Given the description of an element on the screen output the (x, y) to click on. 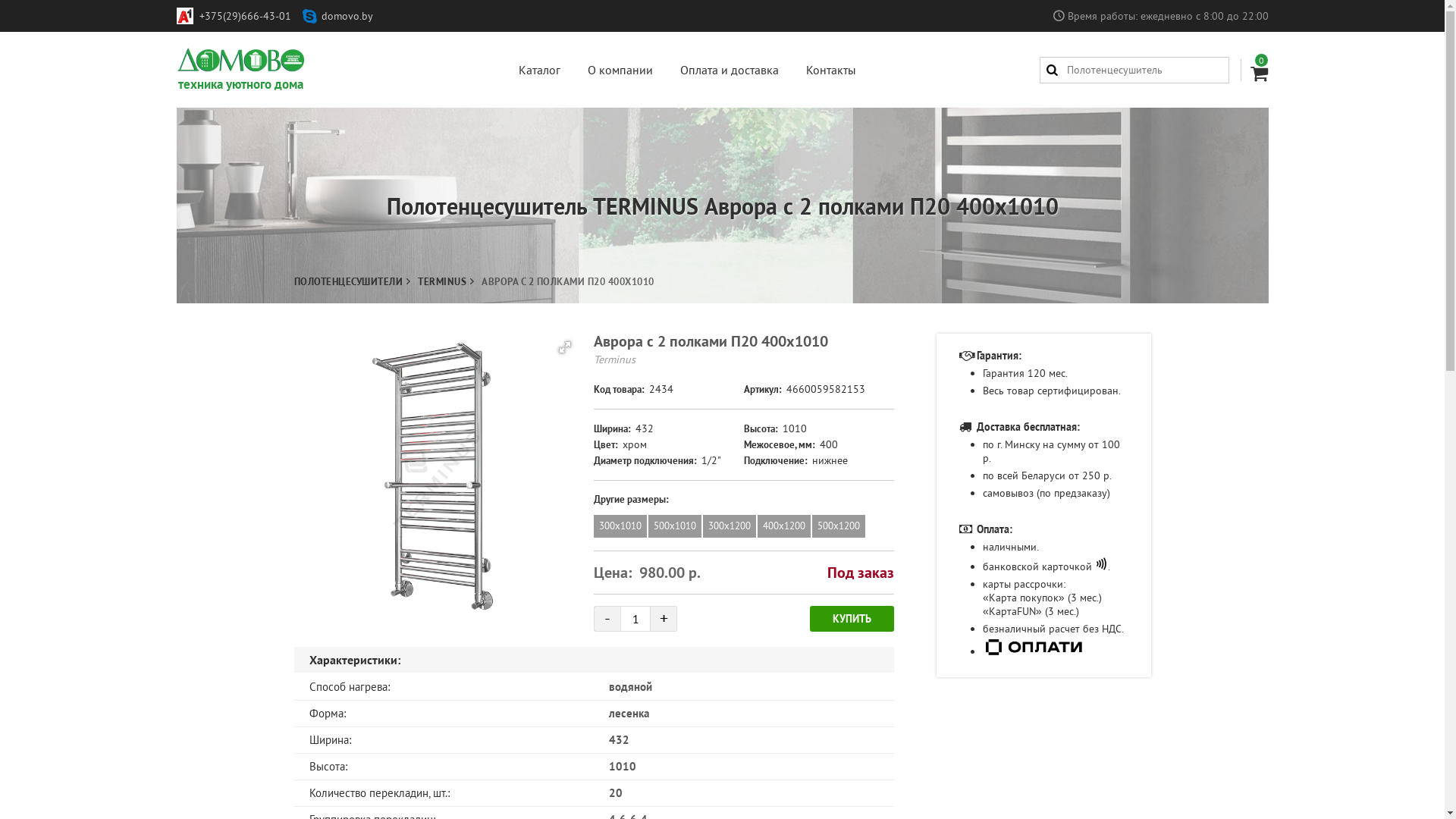
500x1200 Element type: text (838, 525)
500x1010 Element type: text (674, 525)
- Element type: text (606, 618)
300x1010 Element type: text (619, 525)
TERMINUS Element type: text (441, 281)
0 Element type: text (1254, 65)
+ Element type: text (663, 618)
+375(29)666-43-01 Element type: text (244, 15)
400x1200 Element type: text (783, 525)
300x1200 Element type: text (729, 525)
domovo.by Element type: text (347, 15)
